Given the description of an element on the screen output the (x, y) to click on. 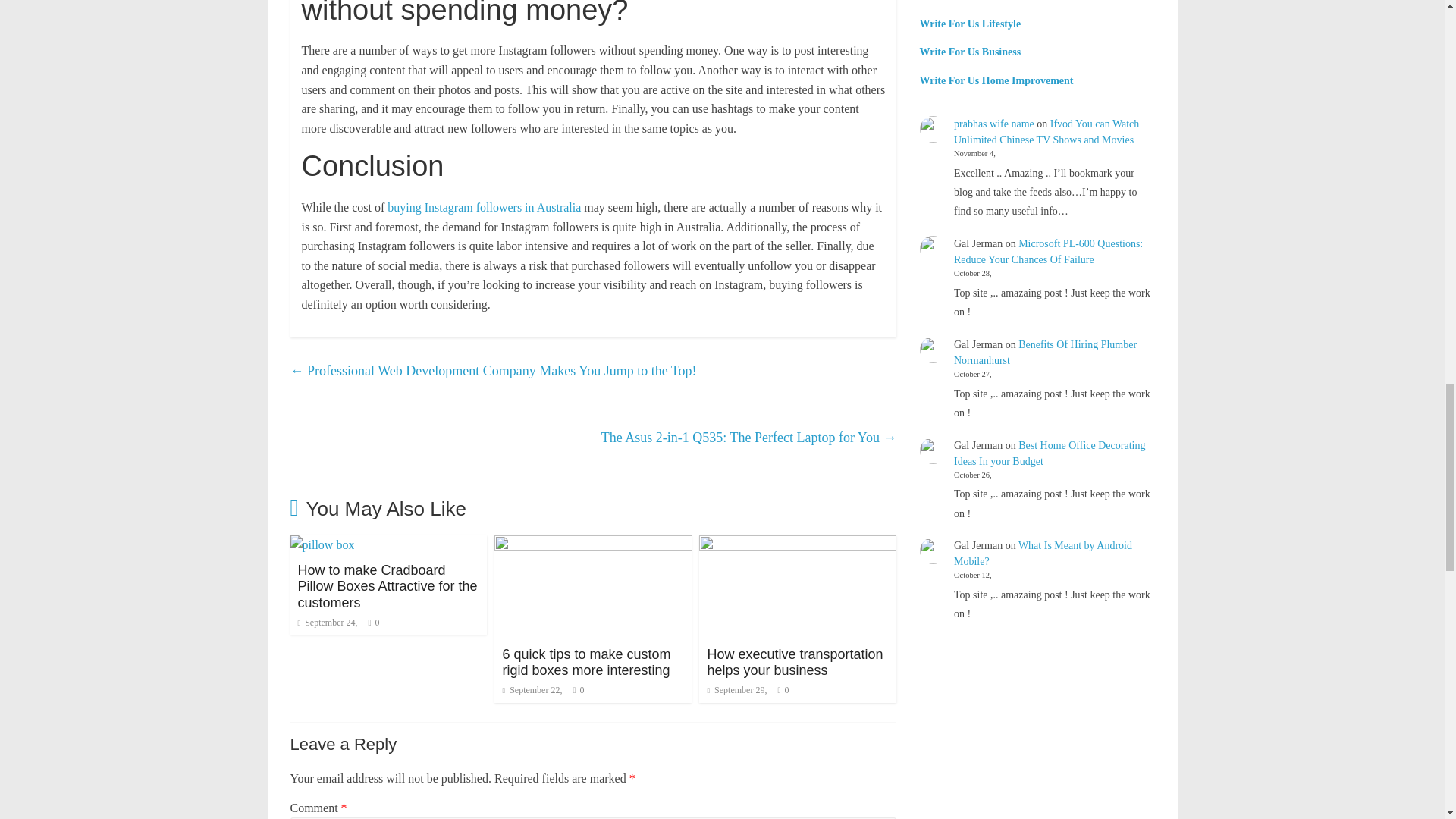
September 24, (326, 622)
9:15 pm (326, 622)
buying Instagram followers in Australia (483, 206)
September 22, (532, 689)
6 quick tips to make custom rigid boxes more interesting (585, 662)
6 quick tips to make custom rigid boxes more interesting (585, 662)
6 quick tips to make custom rigid boxes more interesting (593, 544)
